Given the description of an element on the screen output the (x, y) to click on. 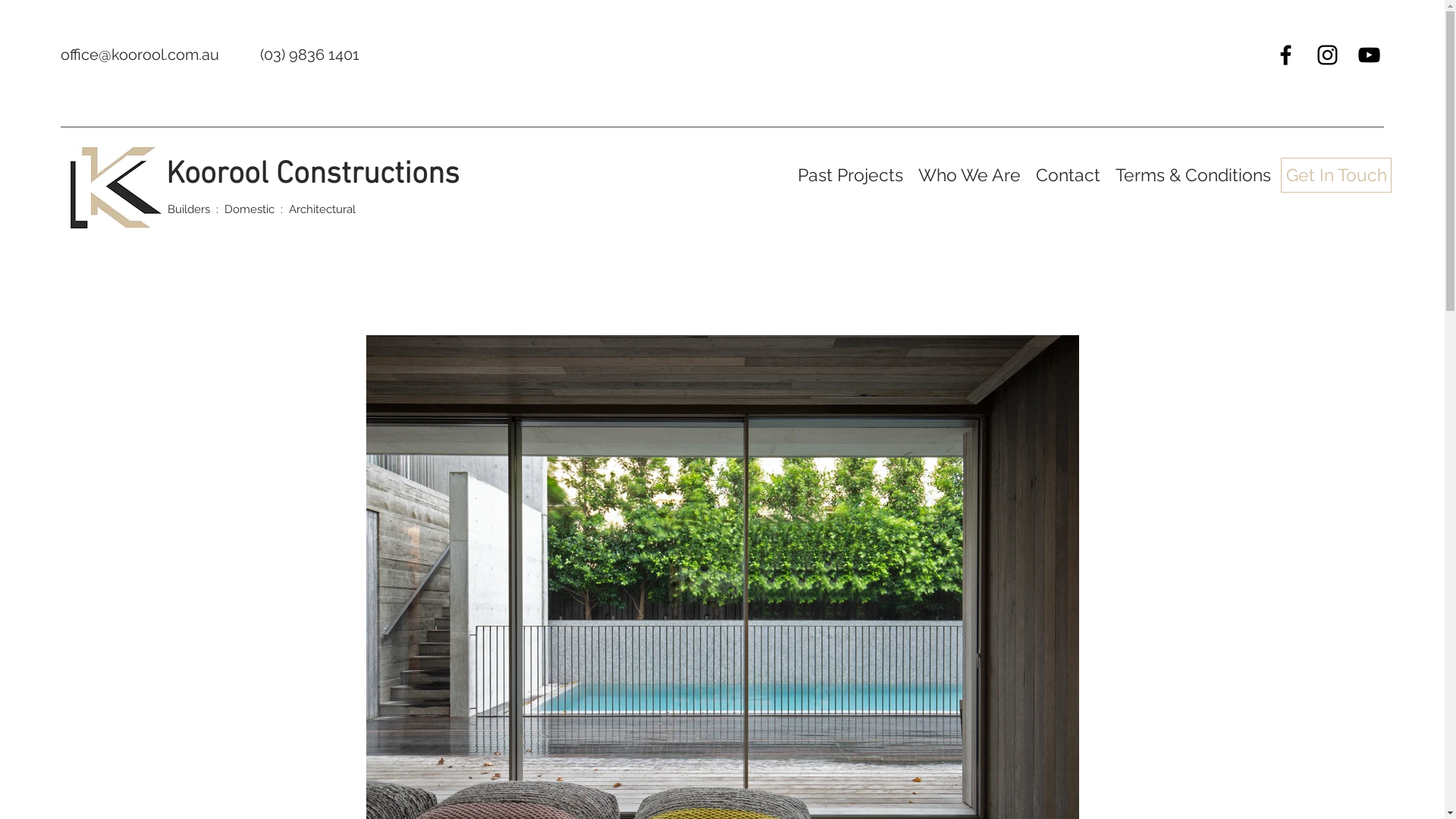
Contact Element type: text (1067, 174)
office@koorool.com.au Element type: text (139, 54)
Get In Touch Element type: text (1335, 174)
Terms & Conditions Element type: text (1192, 174)
Who We Are Element type: text (969, 174)
(03) 9836 1401 Element type: text (309, 54)
Past Projects Element type: text (850, 174)
